Given the description of an element on the screen output the (x, y) to click on. 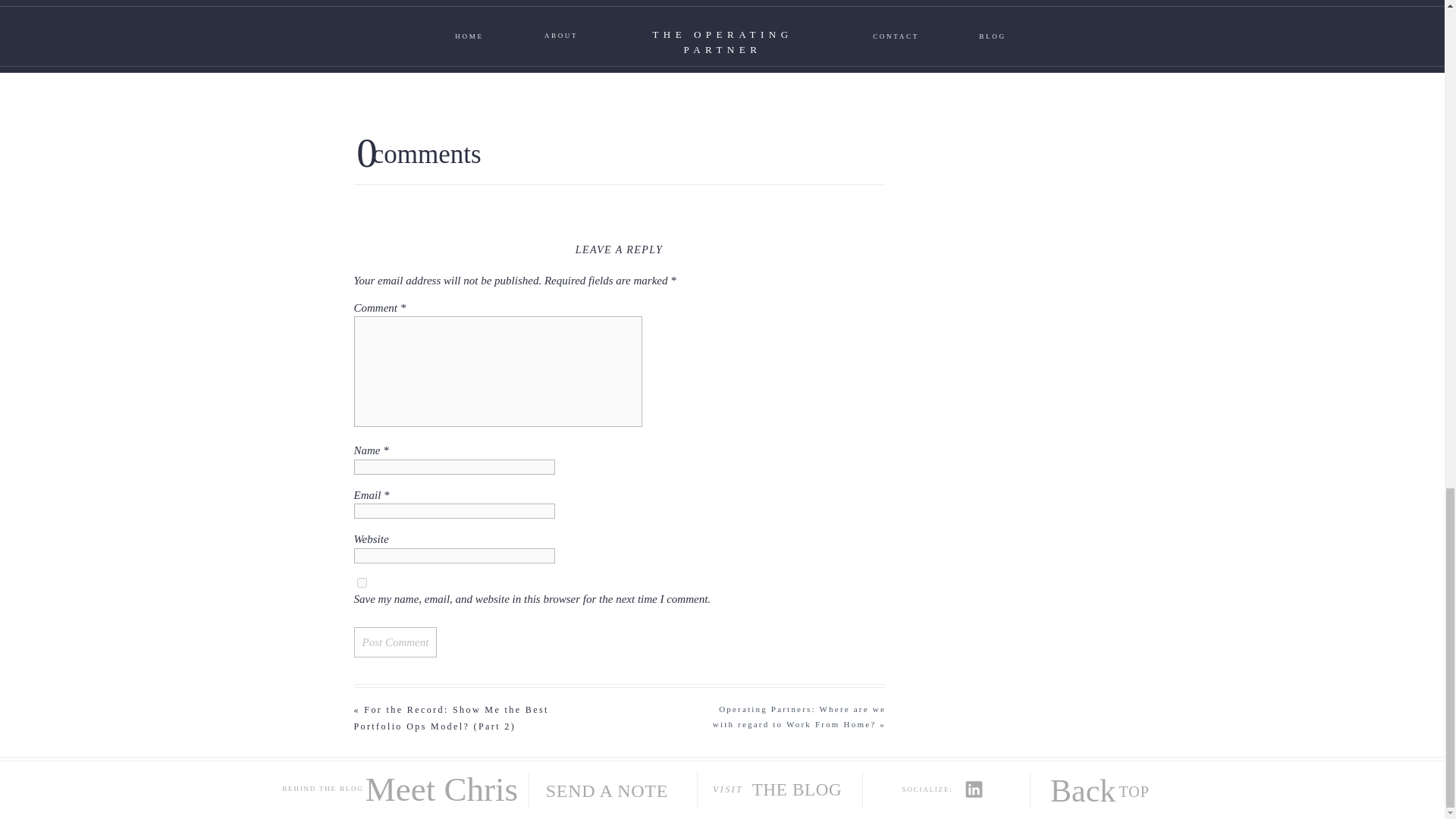
yes (361, 583)
 Back to (1078, 788)
SEND A NOTE (614, 792)
BEHIND THE BLOG (322, 793)
THE BLOG (806, 792)
Post Comment (394, 642)
Meet Chris Conti (441, 781)
Post Comment (394, 642)
TOP (1138, 793)
